Given the description of an element on the screen output the (x, y) to click on. 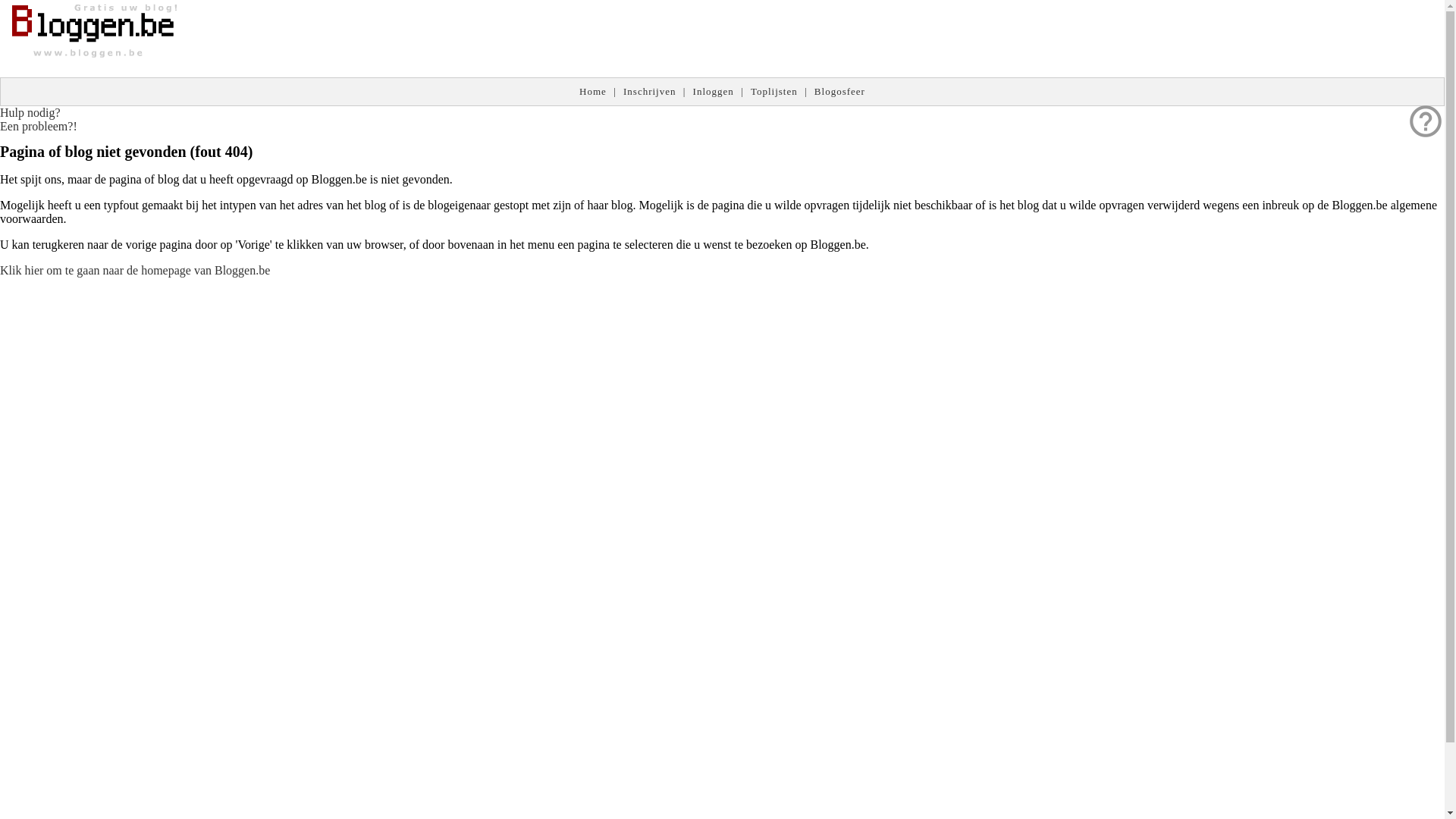
Inloggen Element type: text (713, 91)
Inschrijven Element type: text (649, 91)
Home Element type: text (592, 91)
Toplijsten Element type: text (773, 91)
Blogosfeer Element type: text (839, 91)
Klik hier om te gaan naar de homepage van Bloggen.be Element type: text (134, 269)
help_outline
Hulp nodig?
Een probleem?! Element type: text (38, 119)
